Given the description of an element on the screen output the (x, y) to click on. 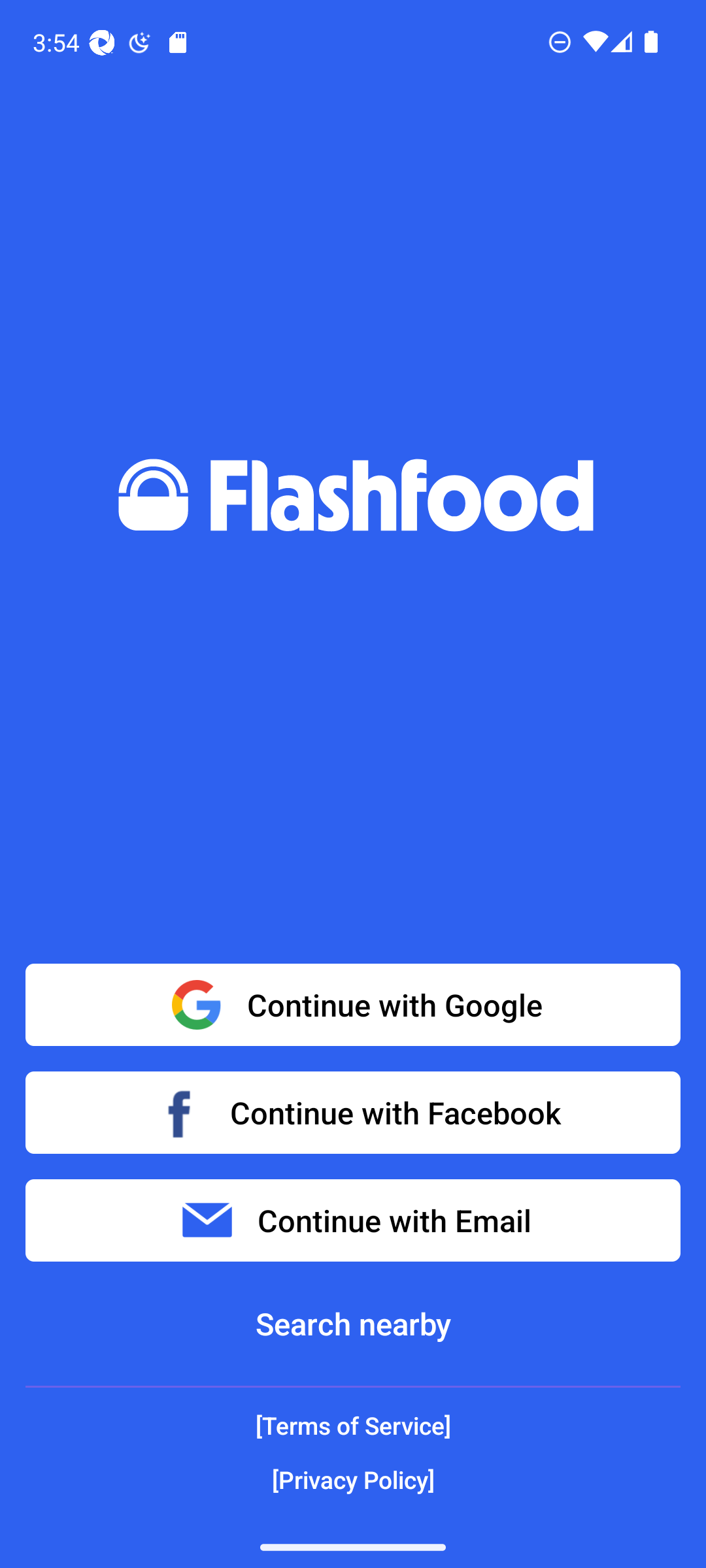
Continue with Google (352, 1004)
Continue with Facebook (352, 1112)
Continue with Email (352, 1220)
Search nearby (352, 1323)
[Terms of Service] (352, 1425)
[Privacy Policy] (352, 1478)
